Given the description of an element on the screen output the (x, y) to click on. 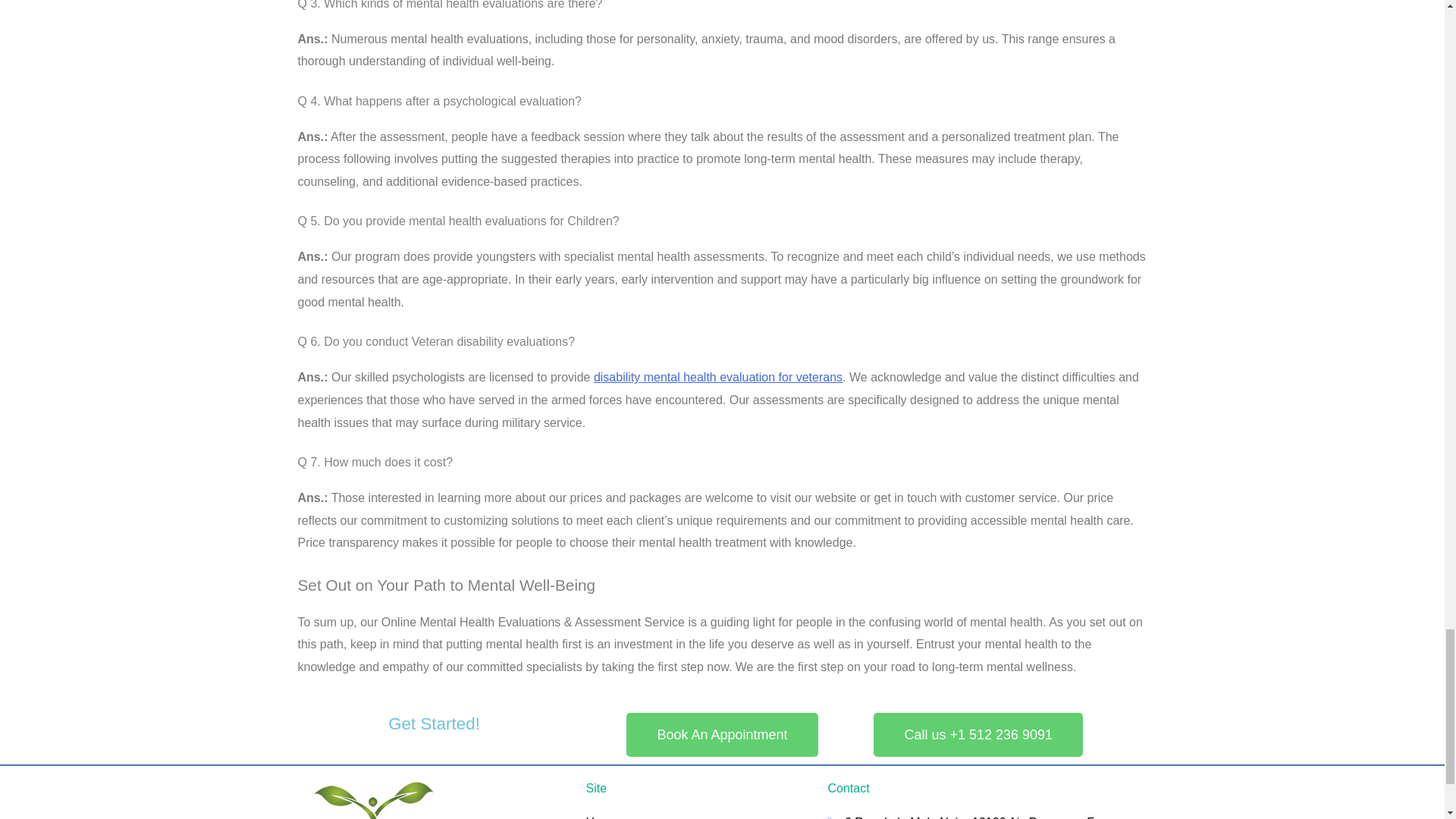
Book An Appointment (721, 734)
disability mental health evaluation for veterans (718, 377)
Home (698, 815)
